Given the description of an element on the screen output the (x, y) to click on. 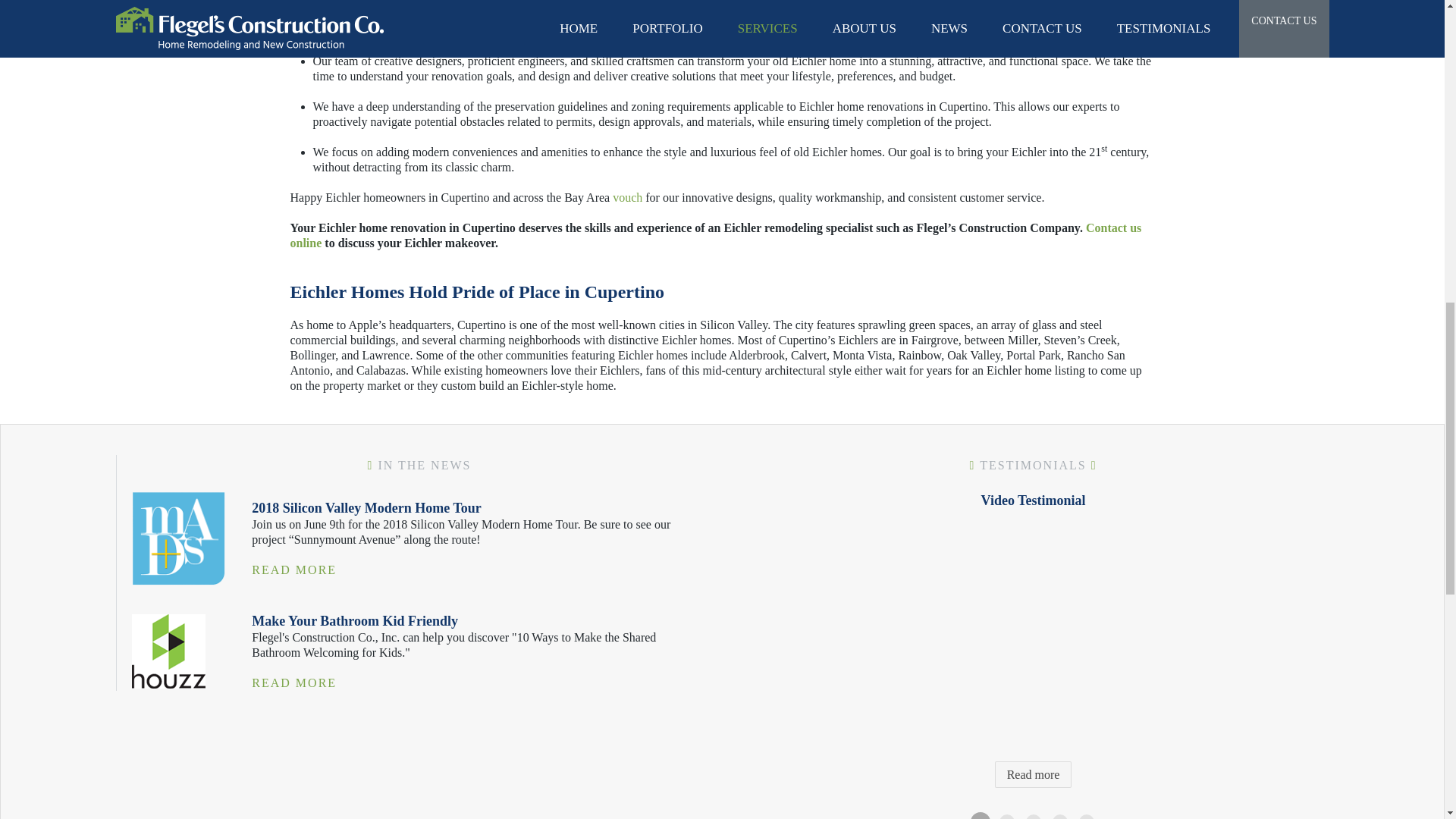
vouch (627, 196)
Eichler remodeling specialists (458, 30)
2018 Silicon Valley Modern Home Tour (178, 538)
Contact us online (715, 235)
Make Your Bathroom Kid Friendly (168, 651)
